Given the description of an element on the screen output the (x, y) to click on. 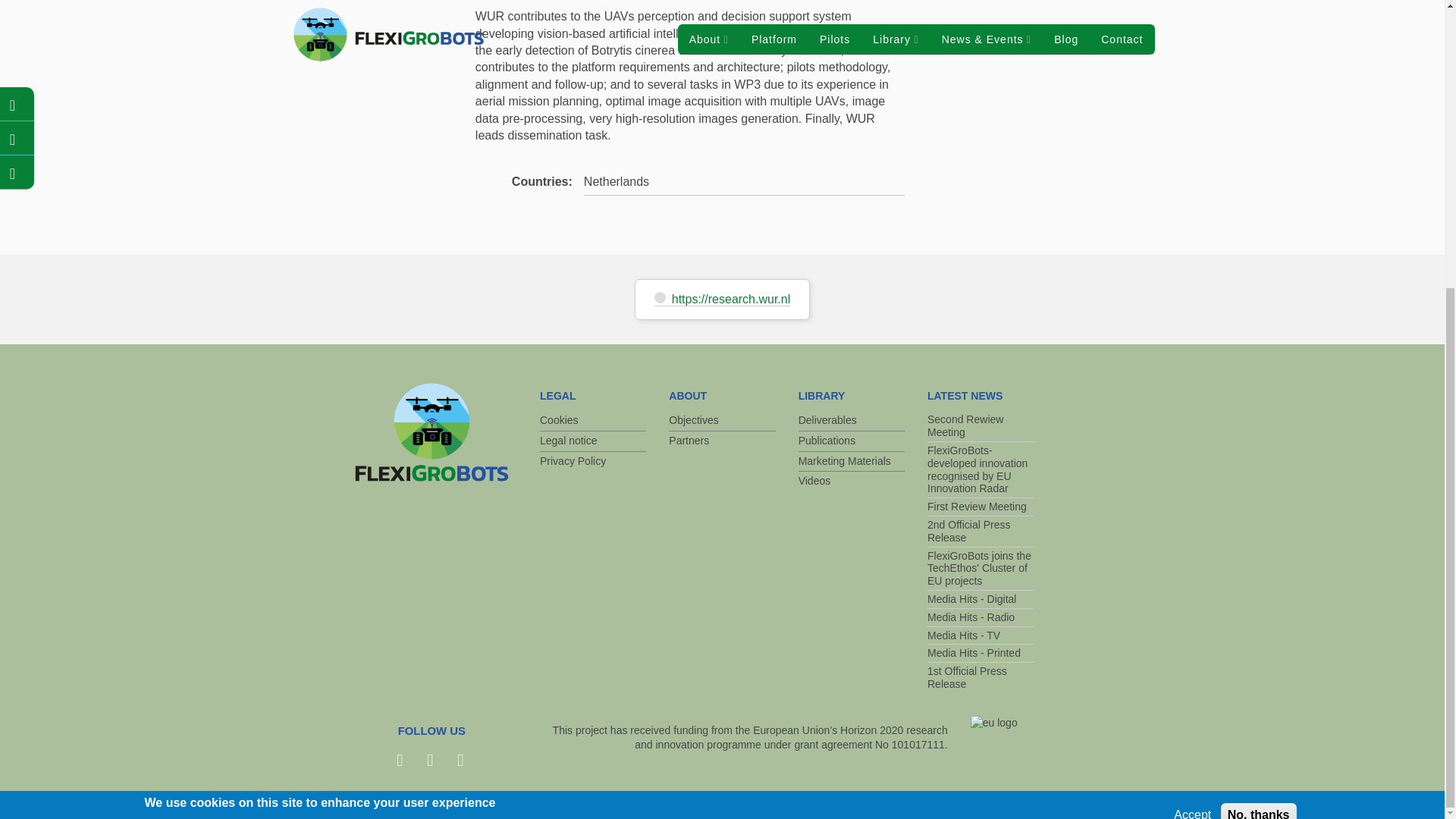
Marketing Materials (850, 461)
FlexiGroBots joins the TechEthos' Cluster of EU projects (980, 568)
Privacy Policy (593, 461)
Partners (721, 441)
Media Hits - Printed (980, 653)
Cookies (593, 420)
Publications (850, 441)
Legal notice (593, 441)
Media Hits - TV (980, 636)
First Review Meeting (980, 506)
Videos (850, 481)
Media Hits - Radio (980, 618)
Second Rewiew Meeting (980, 426)
Deliverables (850, 420)
